Given the description of an element on the screen output the (x, y) to click on. 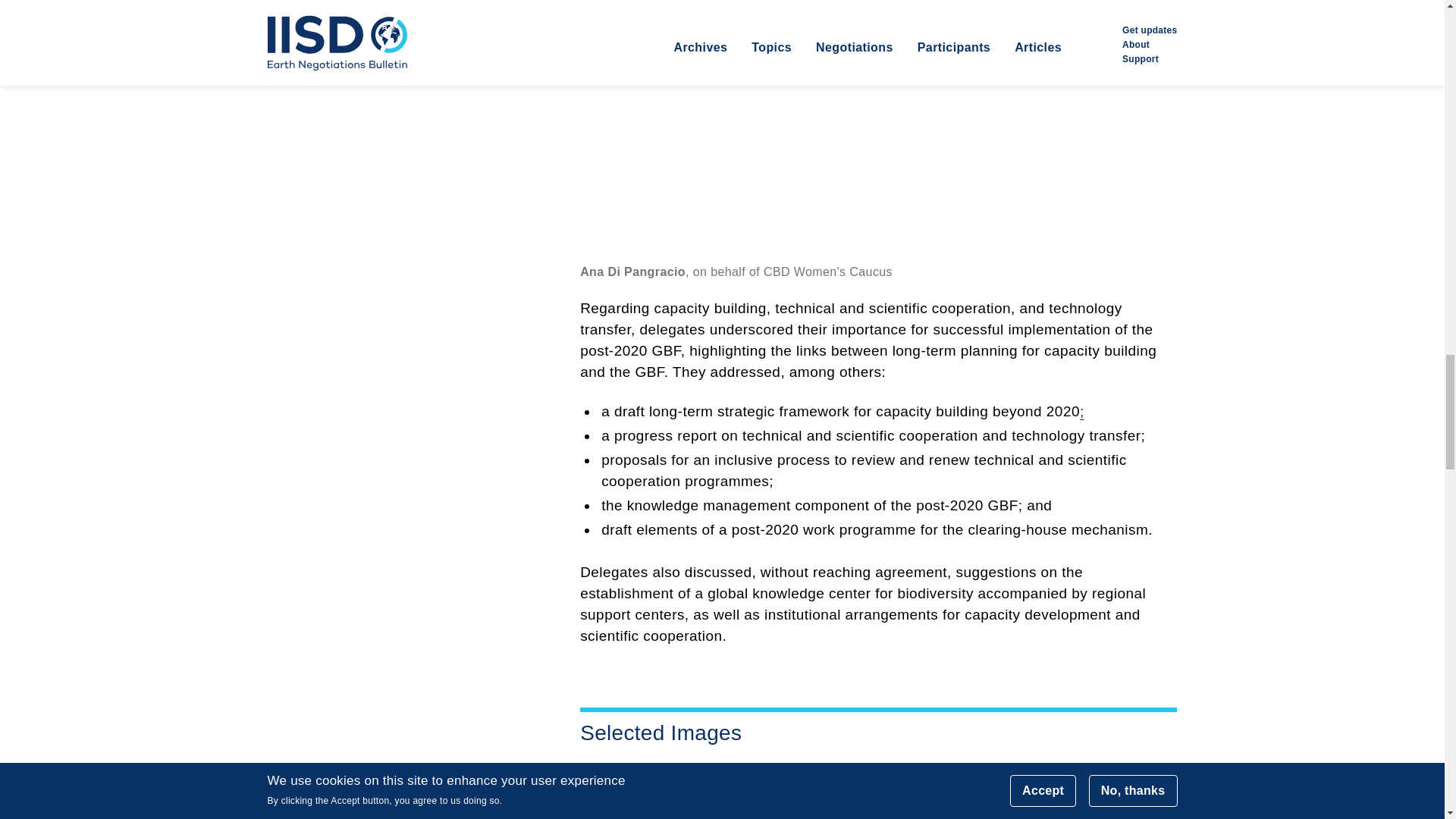
Ana Di Pangracio, on behalf of CBD Women's Caucus (877, 791)
